Given the description of an element on the screen output the (x, y) to click on. 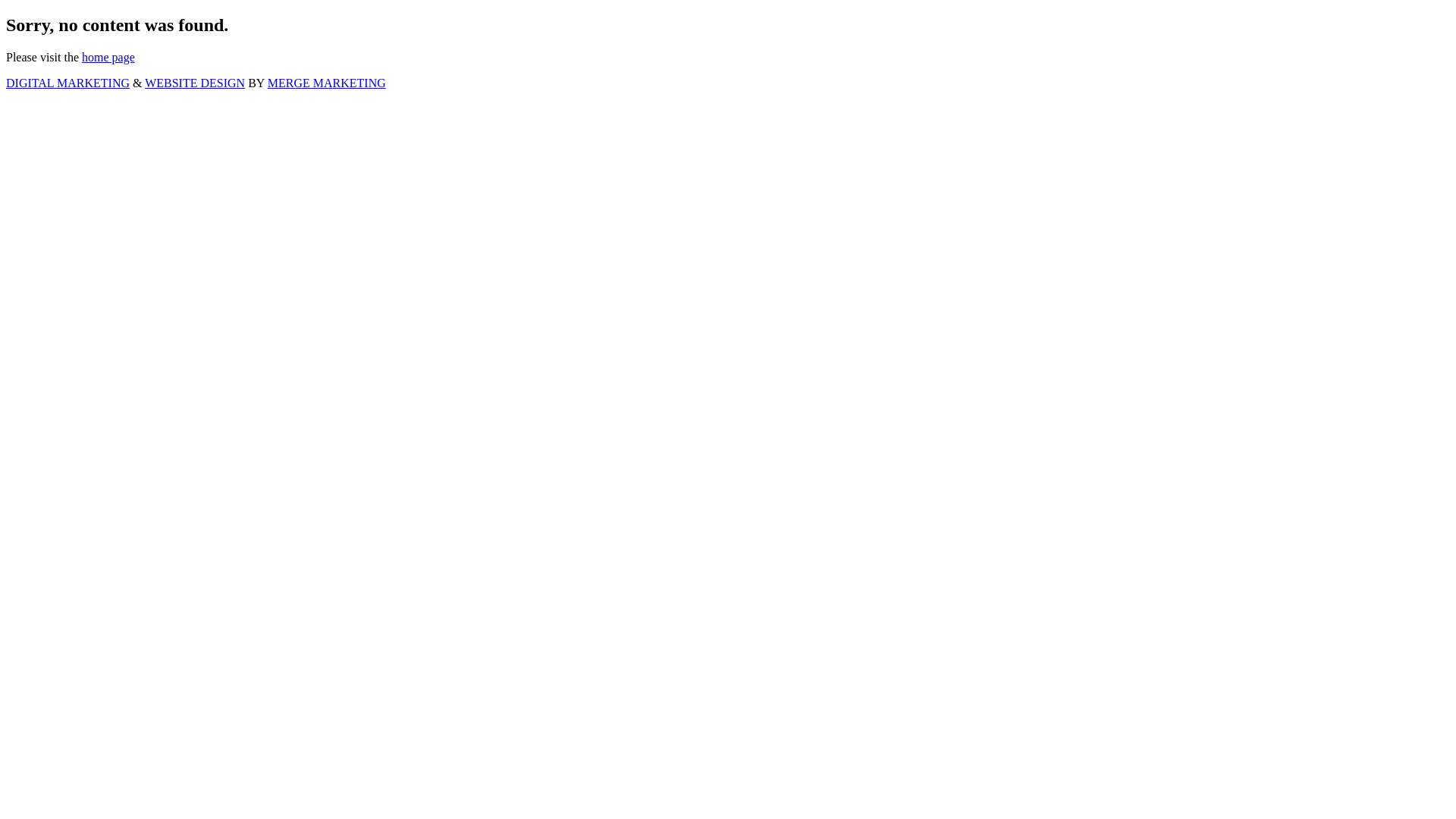
DIGITAL MARKETING Element type: text (67, 82)
home page Element type: text (107, 56)
WEBSITE DESIGN Element type: text (194, 82)
MERGE MARKETING Element type: text (326, 82)
